Given the description of an element on the screen output the (x, y) to click on. 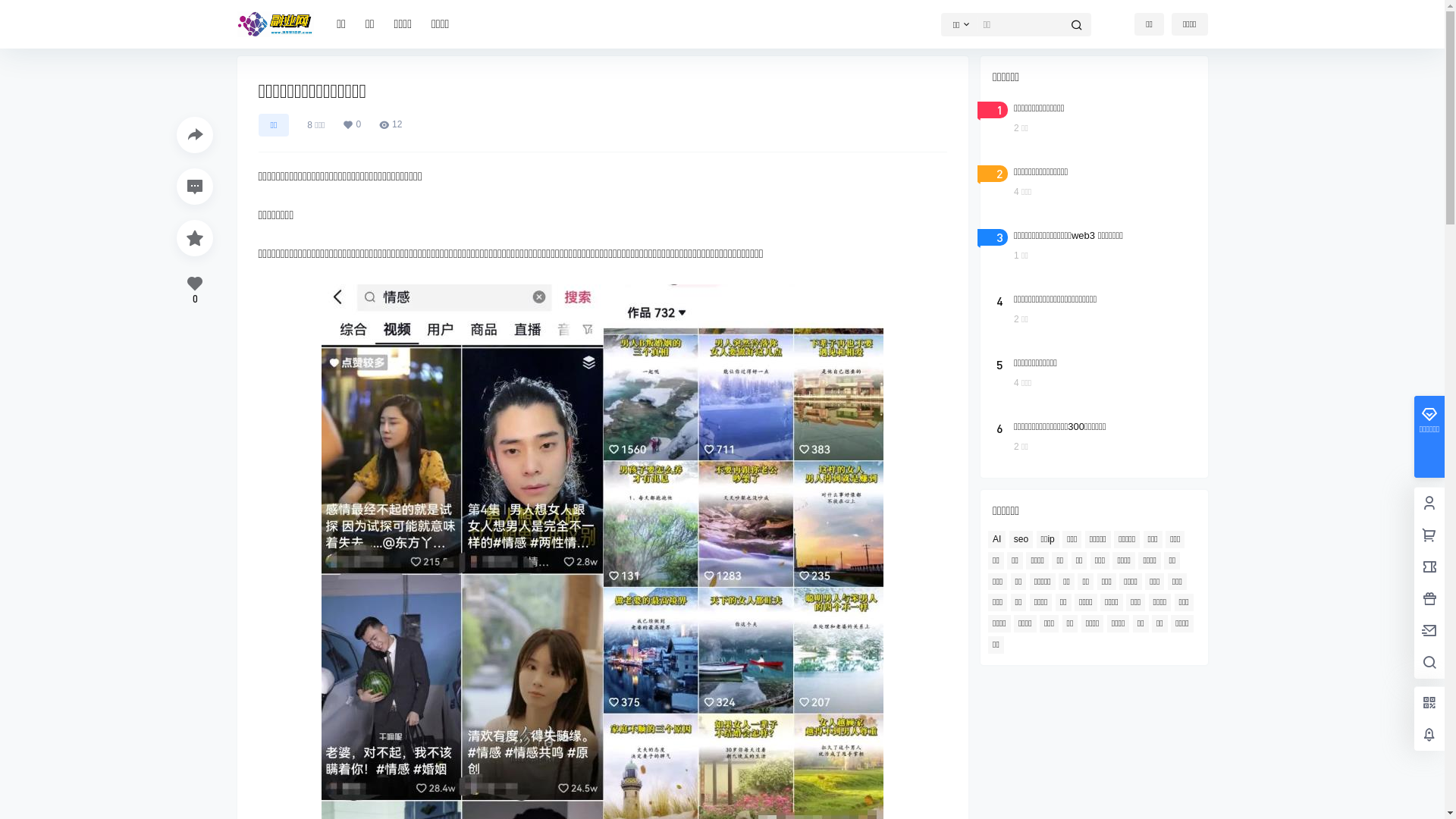
ok Element type: text (10, 10)
AI Element type: text (995, 539)
seo Element type: text (1020, 539)
